Given the description of an element on the screen output the (x, y) to click on. 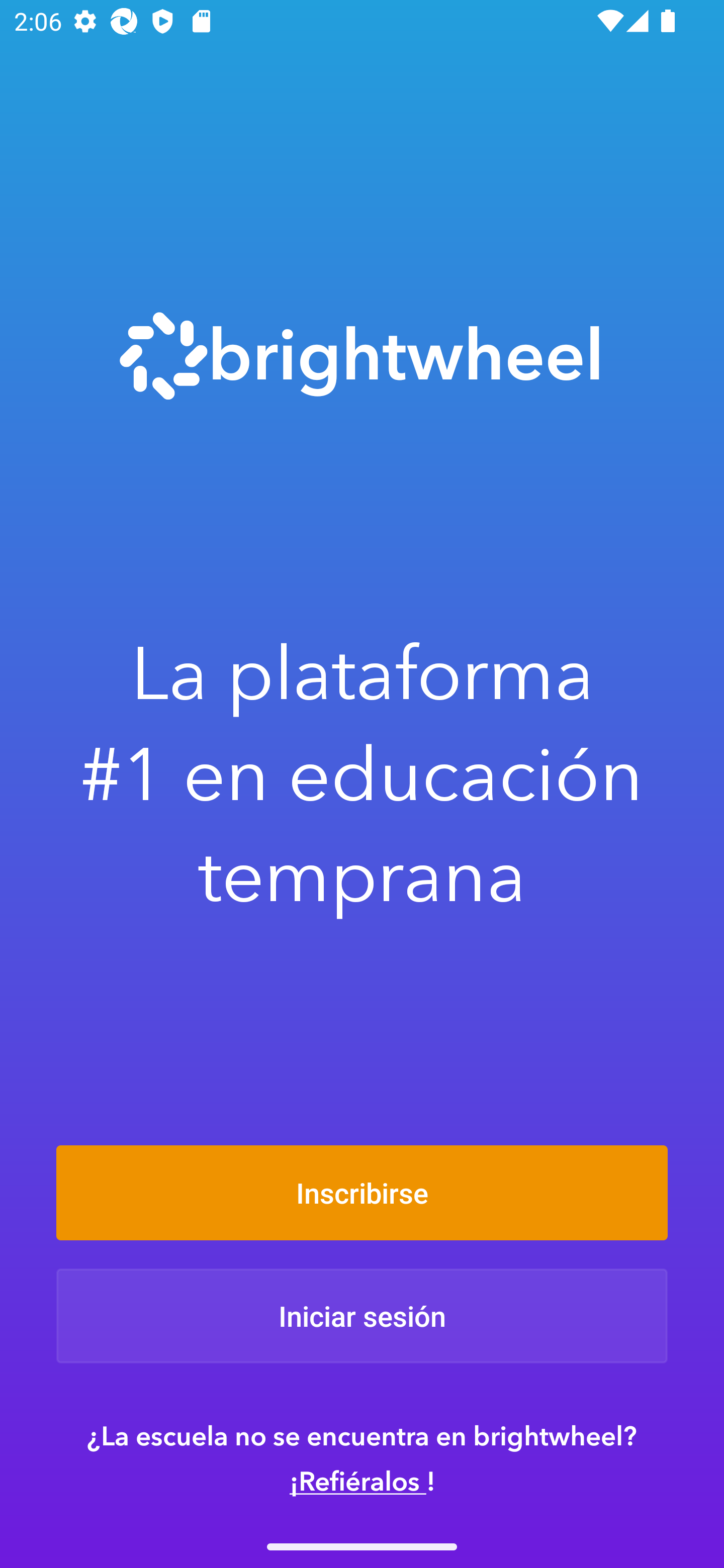
Inscribirse (361, 1192)
Iniciar sesión (361, 1316)
